Given the description of an element on the screen output the (x, y) to click on. 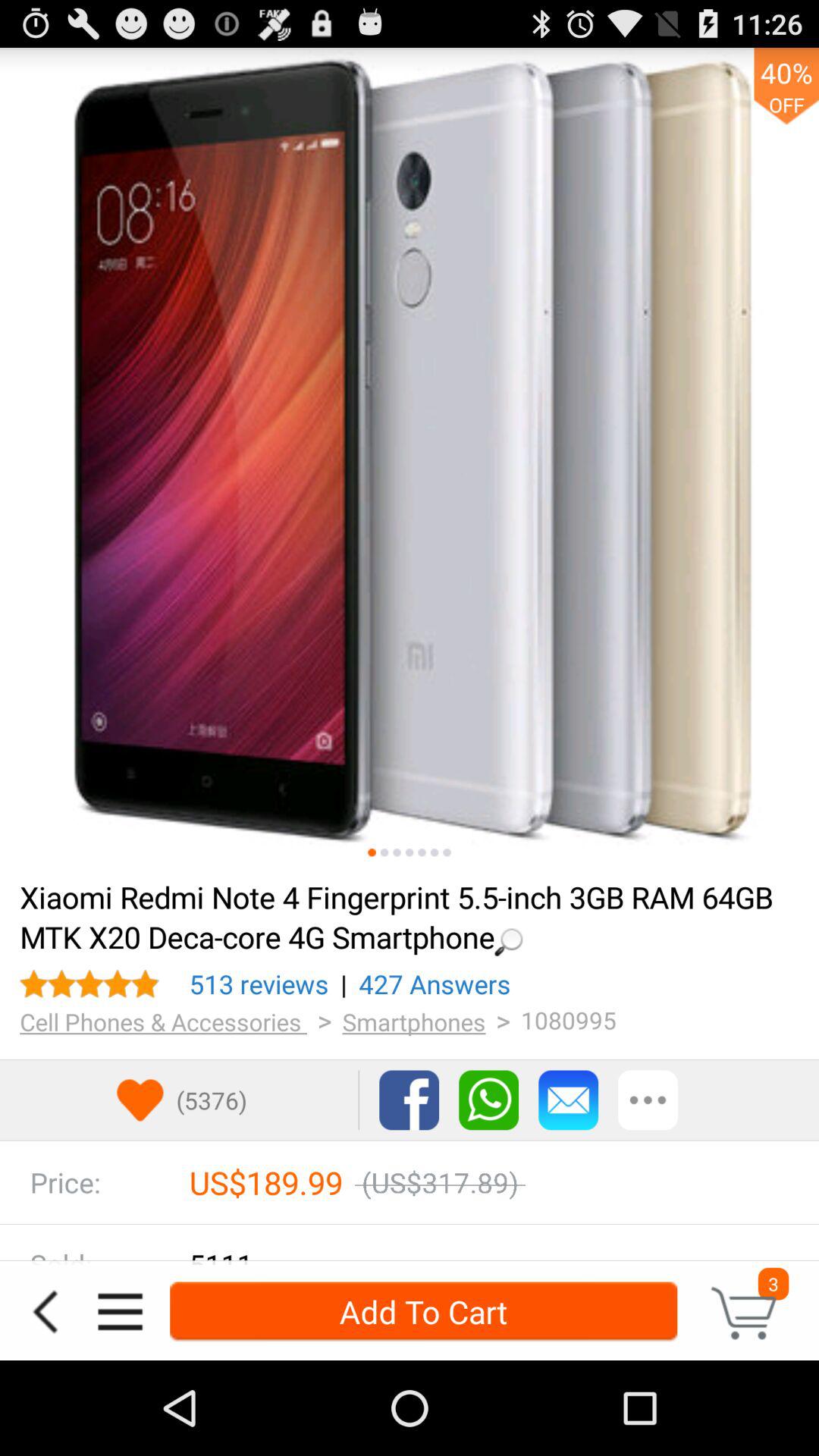
share on facebook (409, 1100)
